Given the description of an element on the screen output the (x, y) to click on. 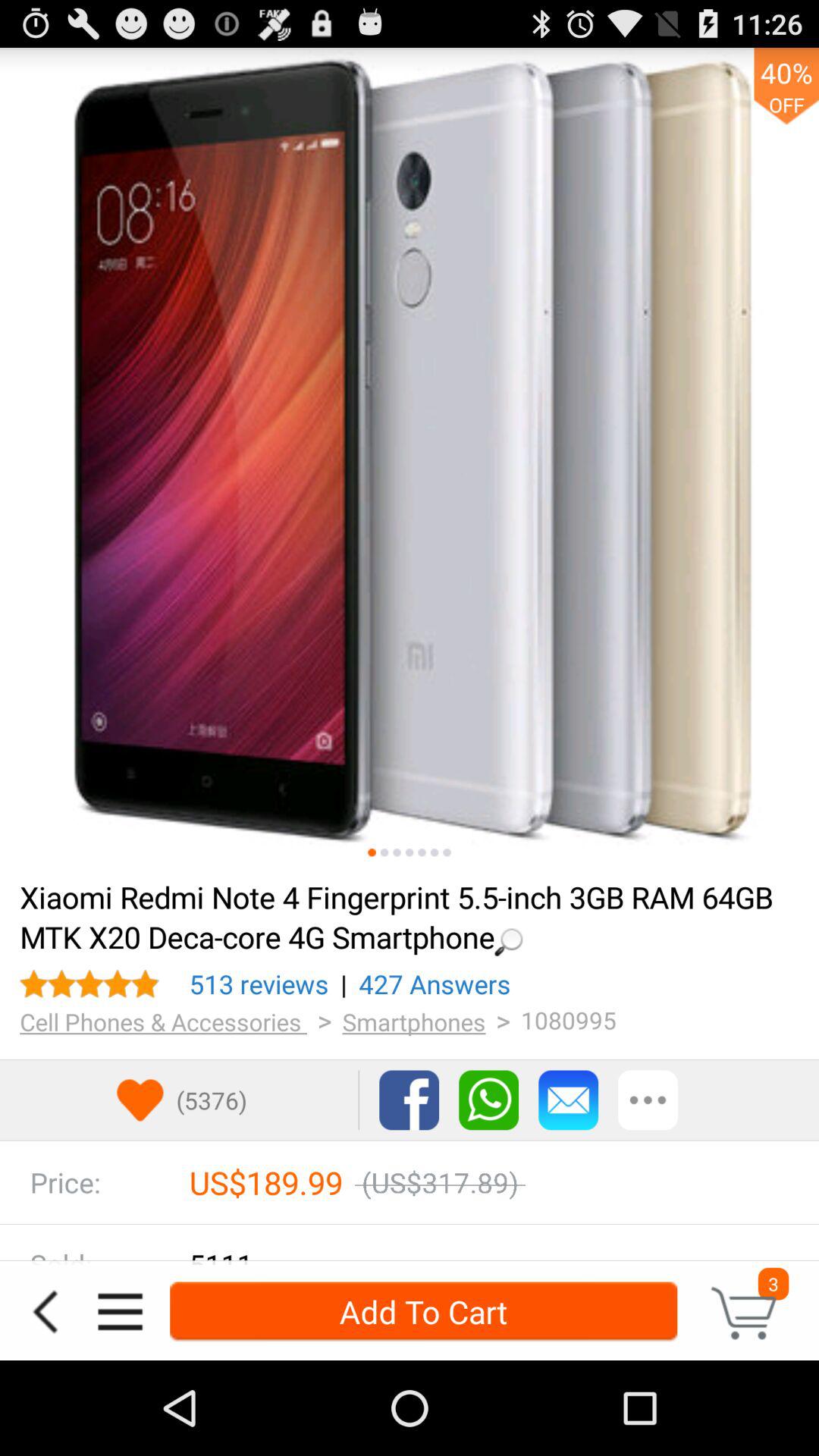
share on facebook (409, 1100)
